Given the description of an element on the screen output the (x, y) to click on. 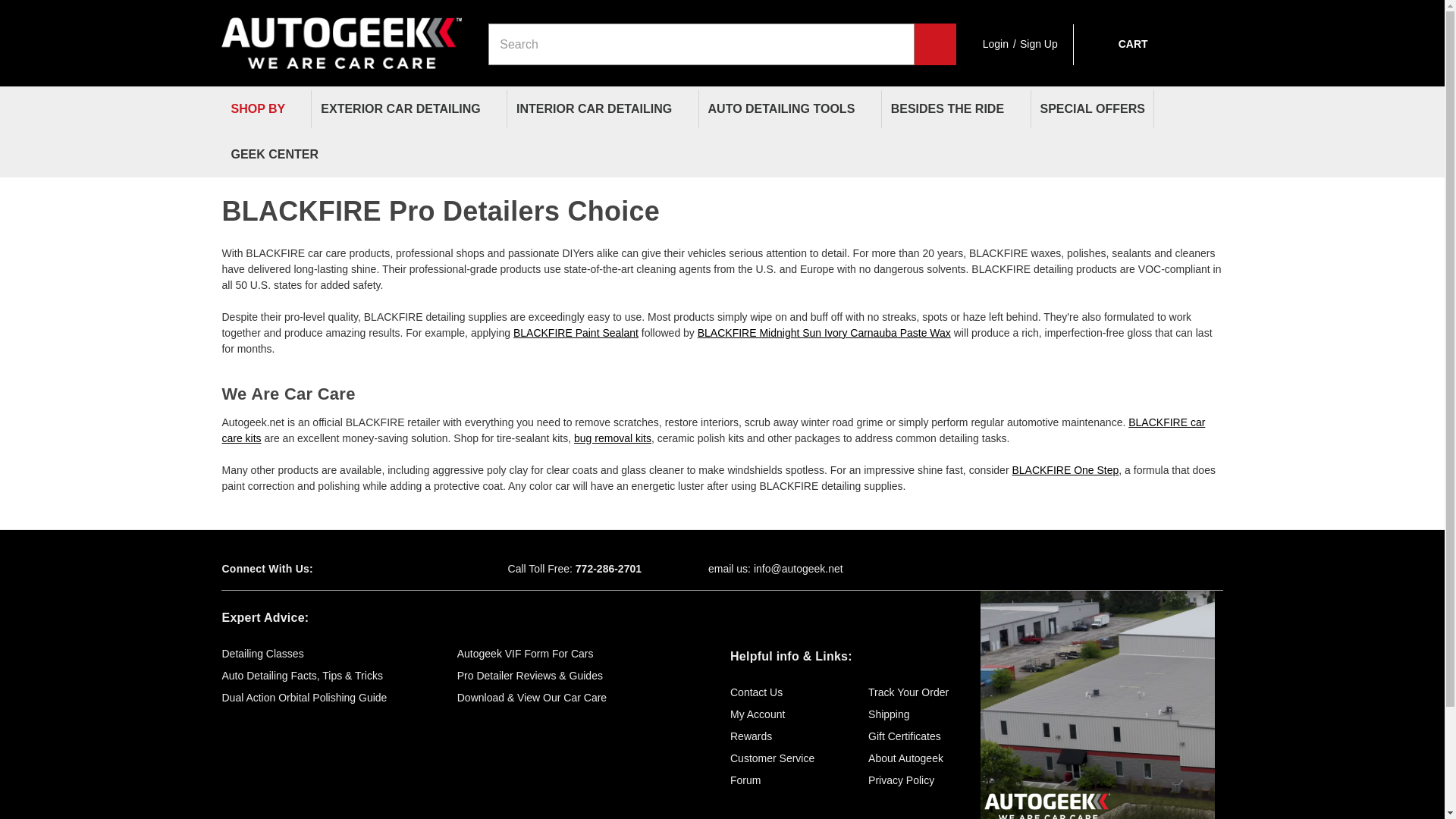
Youtube (405, 569)
Autogeek.net (341, 35)
CART (1117, 44)
Facebook (351, 569)
Twitter (379, 569)
Sign Up (1039, 44)
Instagram (433, 569)
SHOP BY (266, 108)
Login (995, 44)
